Given the description of an element on the screen output the (x, y) to click on. 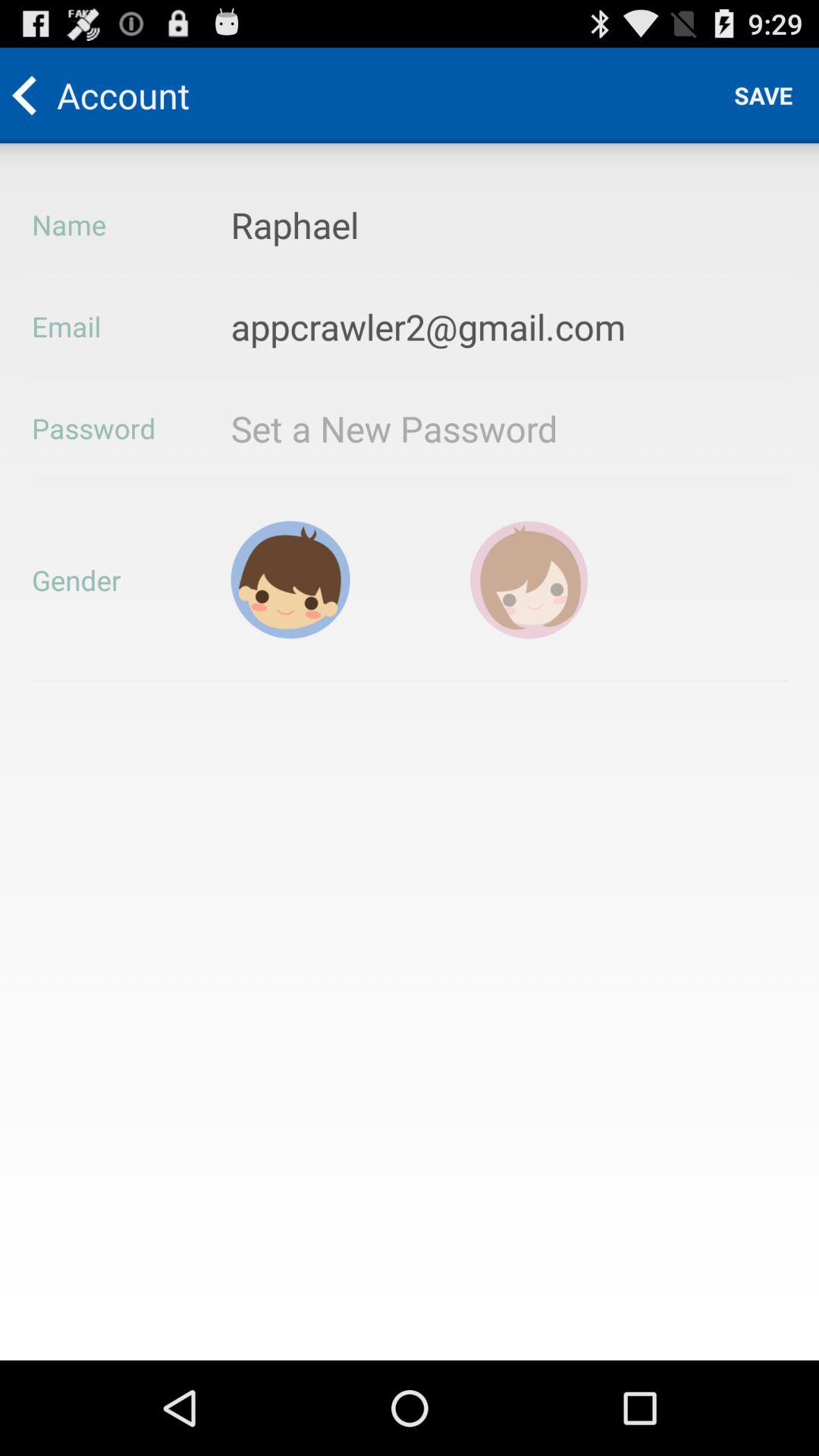
choose gender (290, 579)
